Given the description of an element on the screen output the (x, y) to click on. 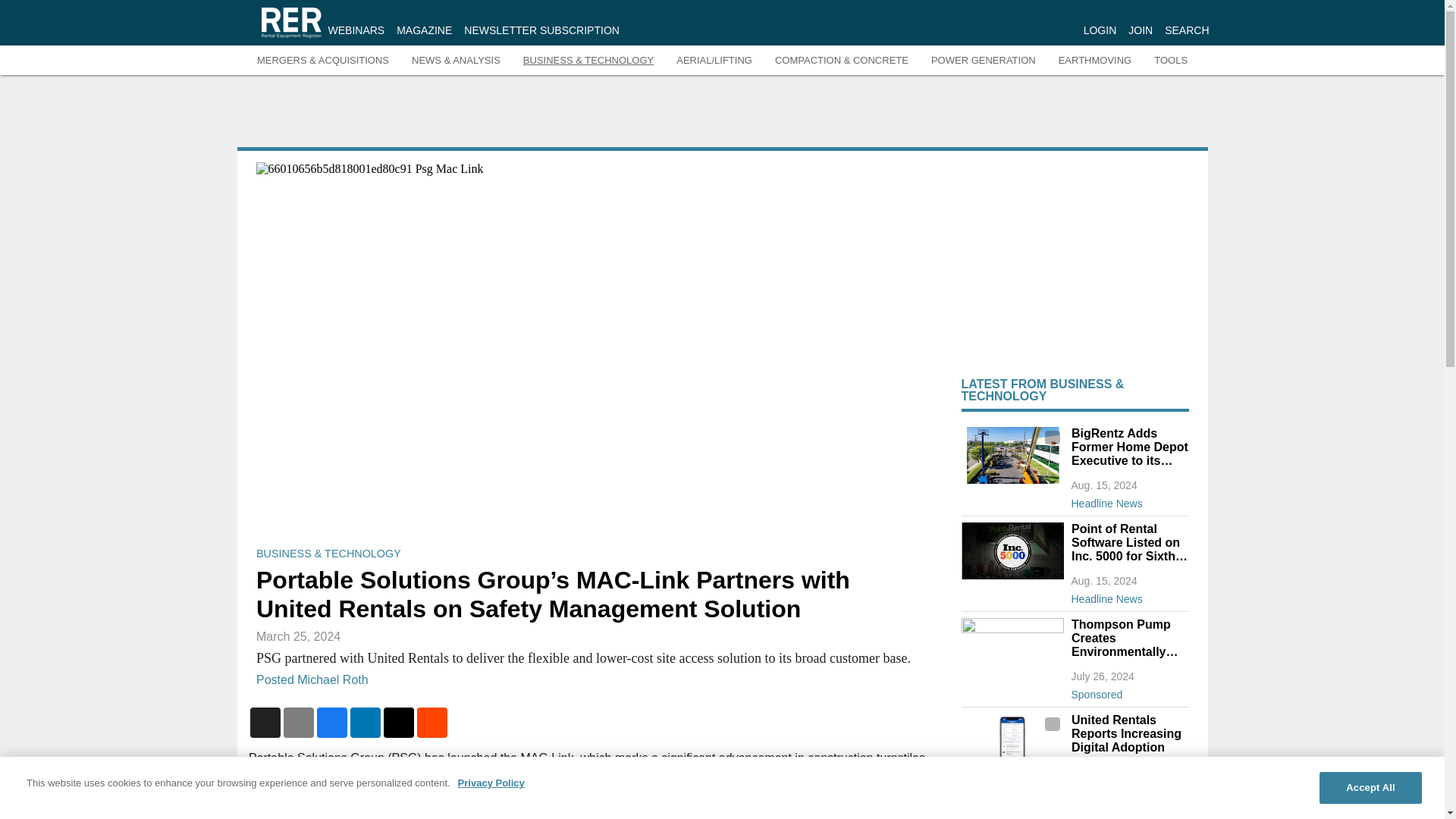
SEARCH (1186, 30)
Posted Michael Roth (312, 679)
POWER GENERATION (983, 60)
WEBINARS (355, 30)
JOIN (1140, 30)
LOGIN (1099, 30)
MAGAZINE (423, 30)
EARTHMOVING (1095, 60)
TOOLS (1171, 60)
